Given the description of an element on the screen output the (x, y) to click on. 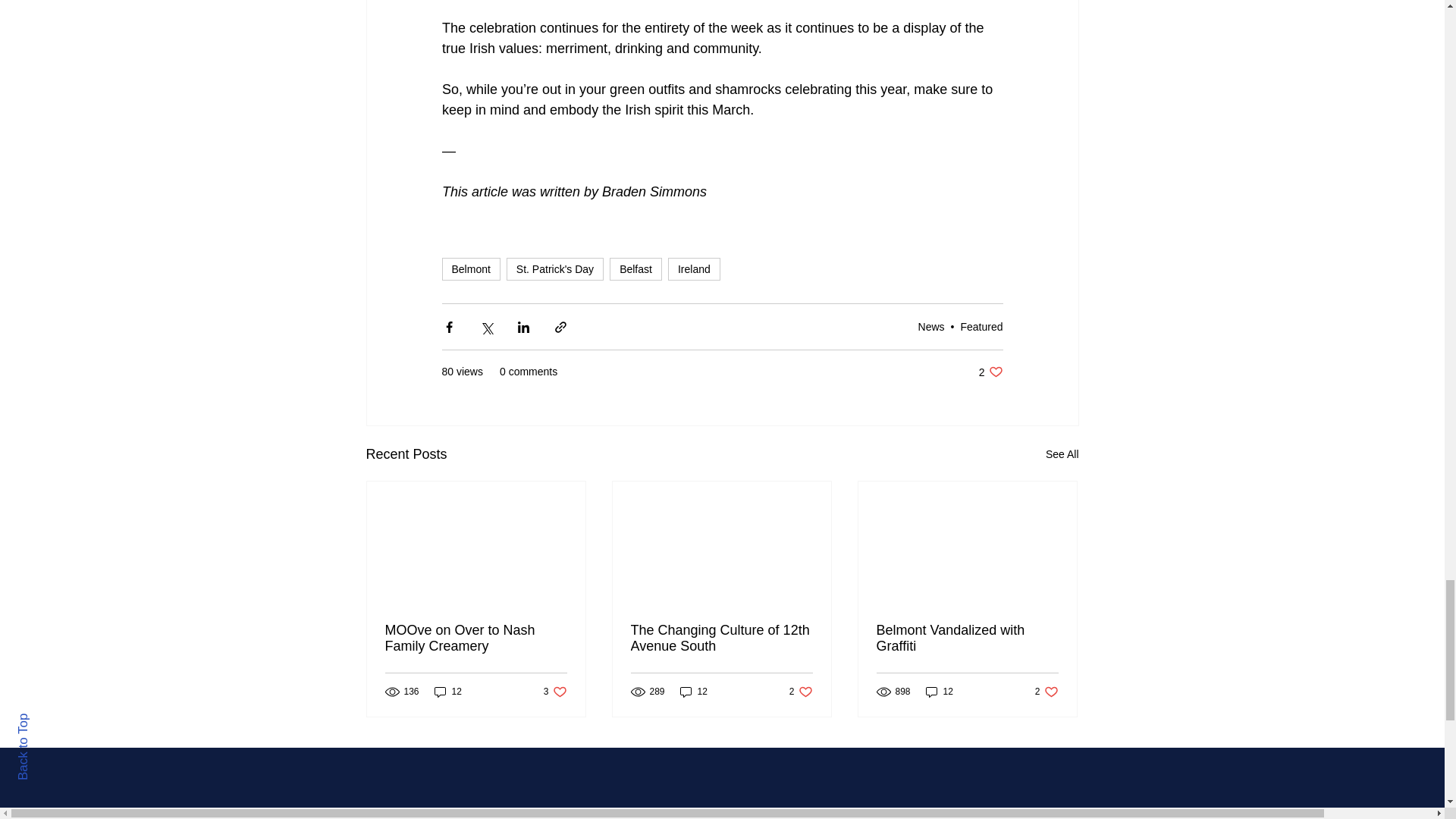
Ireland (694, 268)
St. Patrick's Day (555, 268)
Belfast (636, 268)
Belmont (470, 268)
